Given the description of an element on the screen output the (x, y) to click on. 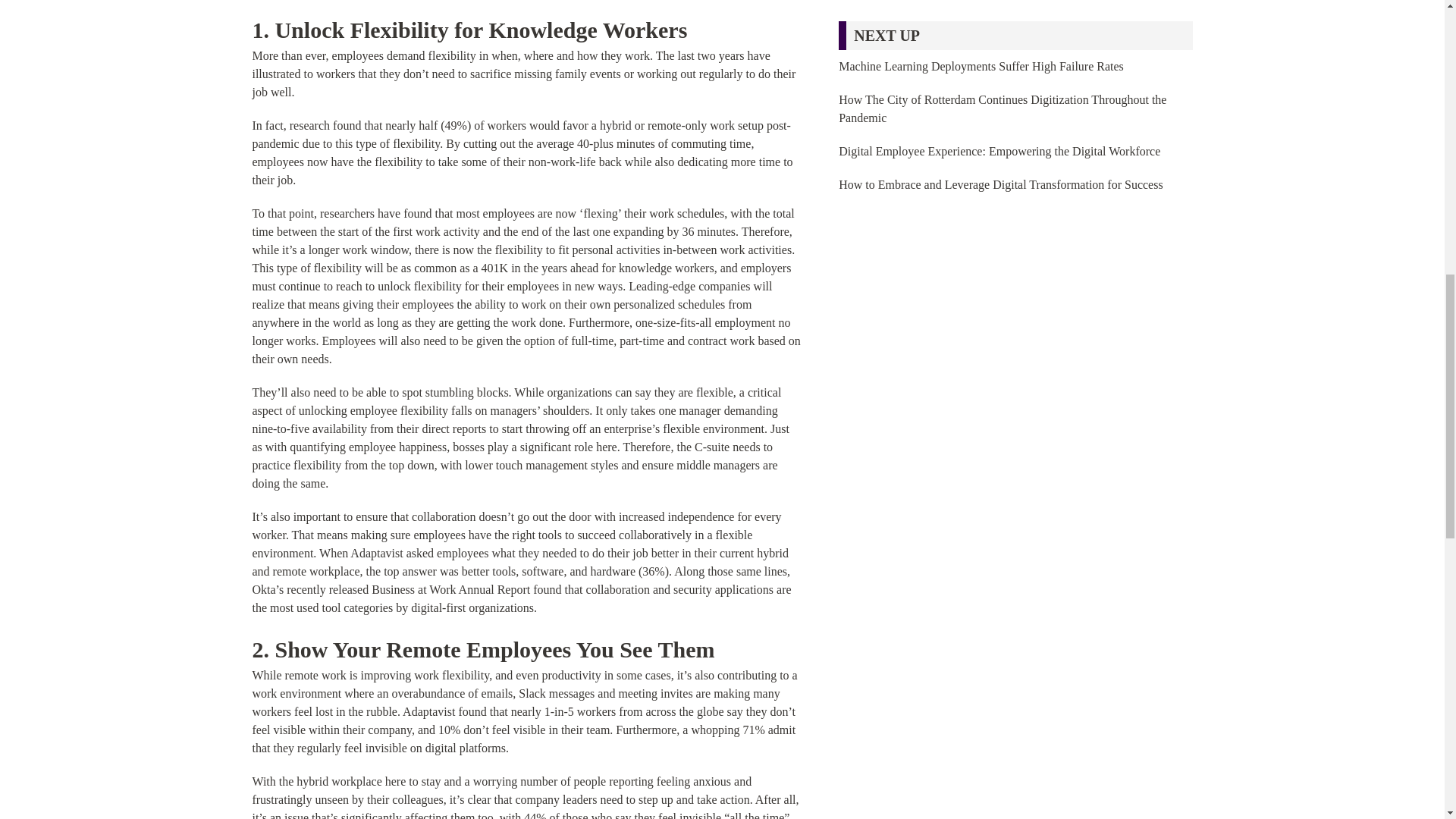
Machine Learning Deployments Suffer High Failure Rates (981, 65)
Adaptavist (376, 553)
researchers have found (375, 213)
Machine Learning Deployments Suffer High Failure Rates (981, 65)
Business at Work Annual Report (450, 589)
Digital CxO Podcast (1015, 2)
